Given the description of an element on the screen output the (x, y) to click on. 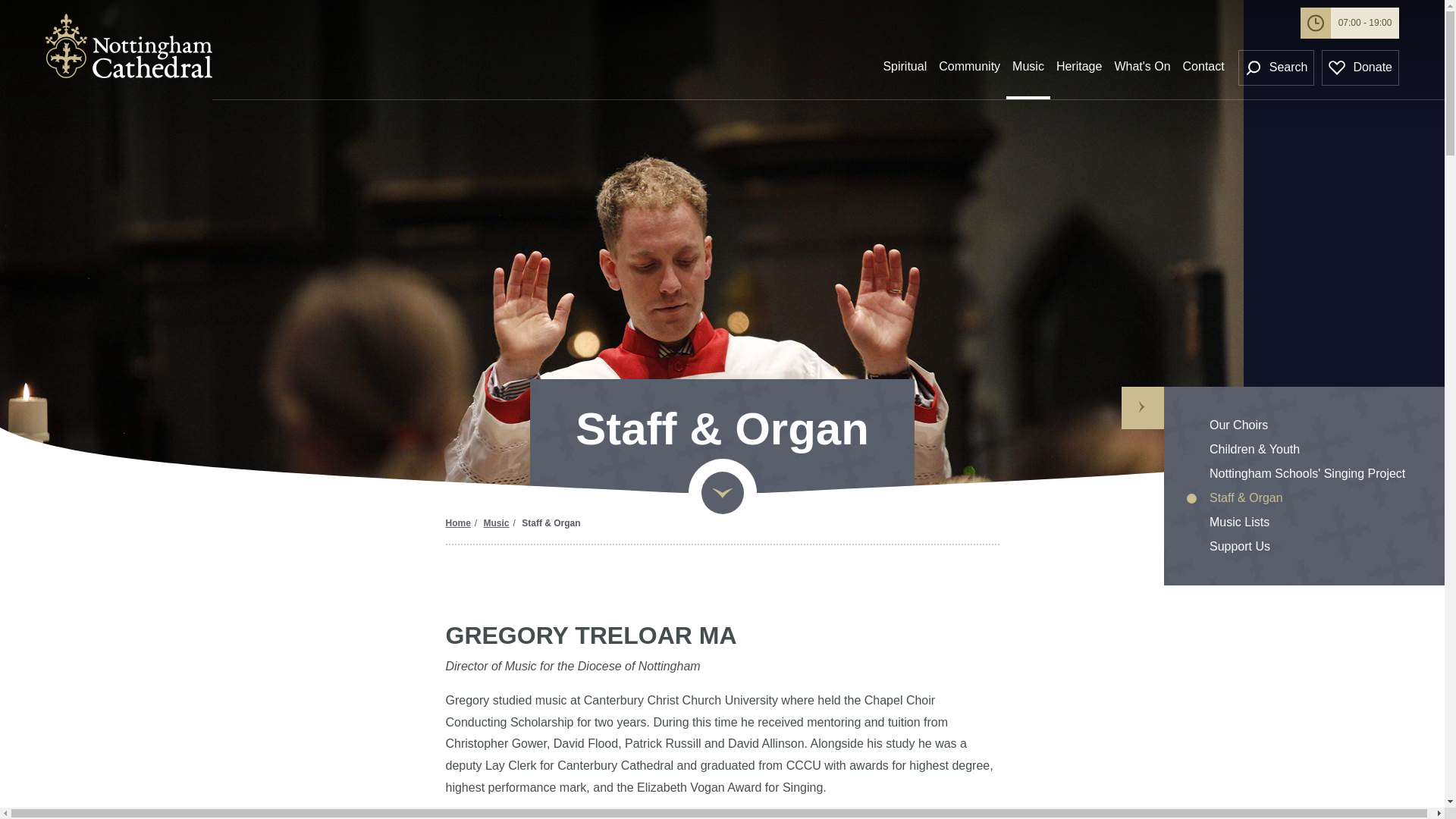
Community (969, 74)
Spiritual (904, 74)
Music (1027, 74)
Donate (1360, 67)
What's On (1142, 74)
Contact (1203, 74)
Search (1276, 67)
Heritage (1078, 74)
